Given the description of an element on the screen output the (x, y) to click on. 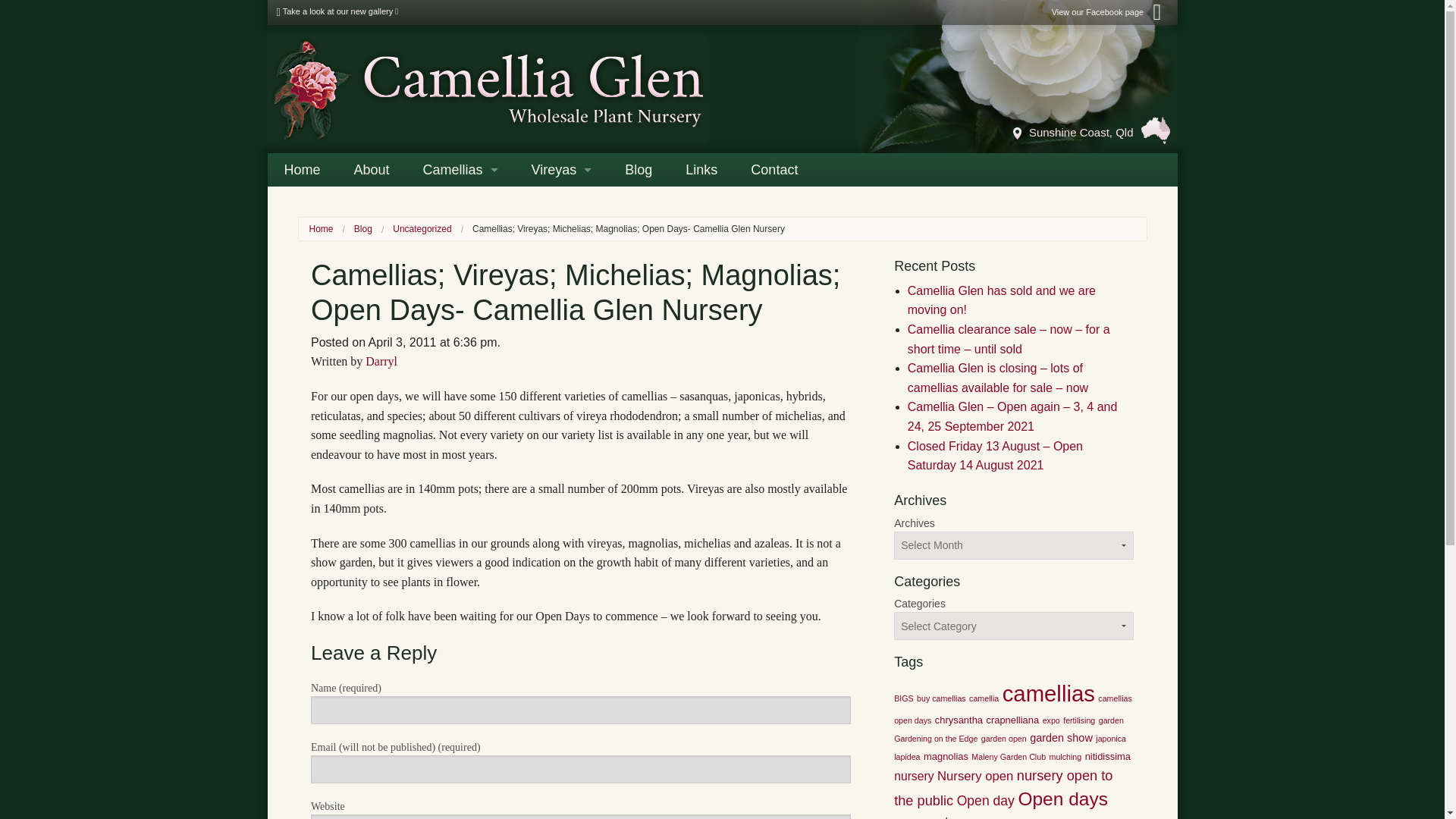
Home (301, 169)
Vireyas (561, 169)
View our Facebook page (1110, 11)
About (371, 169)
Camellias (460, 169)
Take a look at our new gallery (336, 10)
Vireya Listing (561, 236)
Uncategorized (422, 228)
Camellia Galleries (460, 203)
Sunshine Coast, Qld (1091, 130)
Vireya Gallery (561, 203)
Camellia Listing (460, 236)
Home (320, 228)
